Given the description of an element on the screen output the (x, y) to click on. 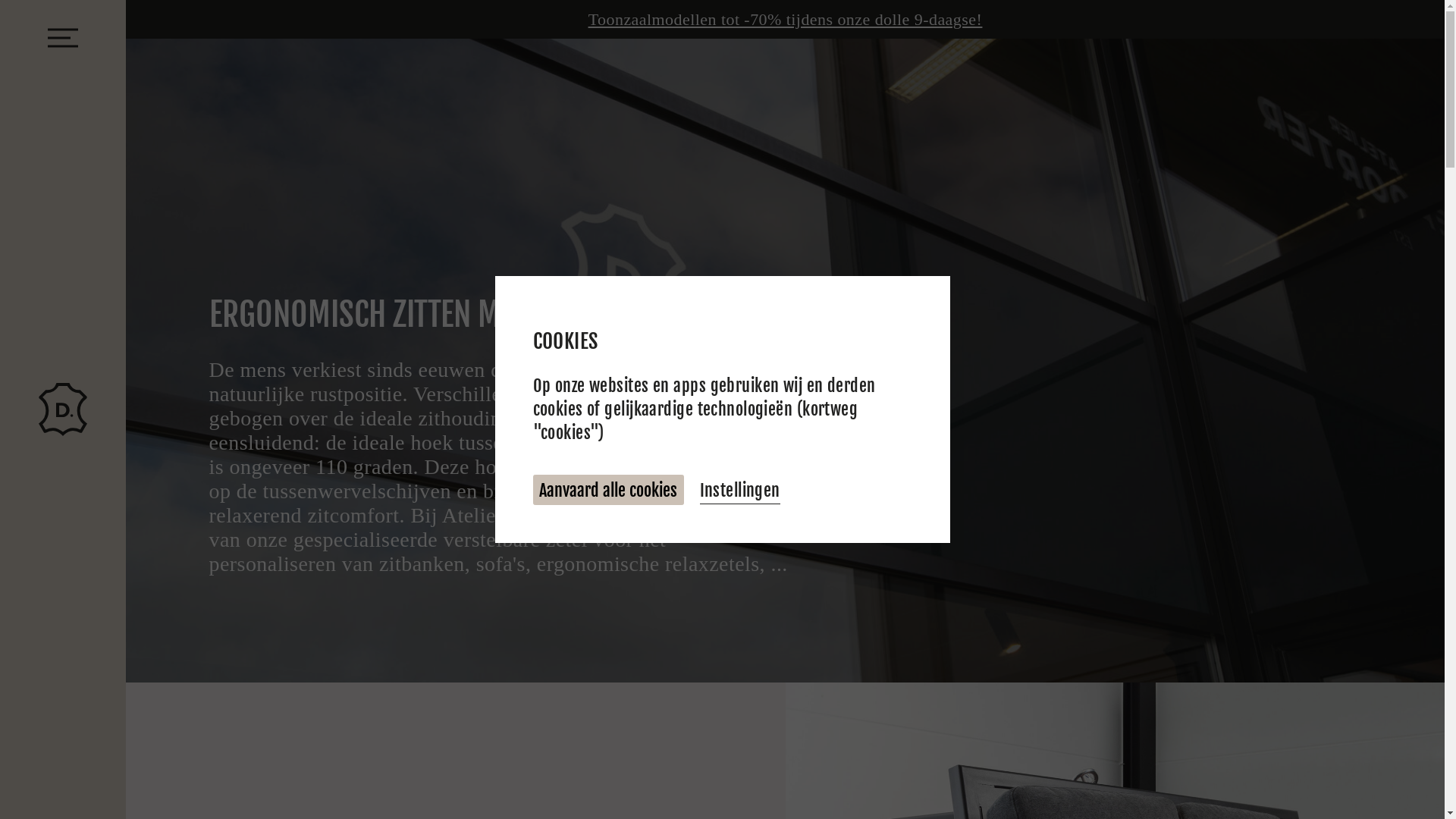
Toonzaalmodellen tot -70% tijdens onze dolle 9-daagse! Element type: text (785, 18)
Aanvaard alle cookies Element type: text (607, 489)
Instellingen Element type: text (740, 489)
